Given the description of an element on the screen output the (x, y) to click on. 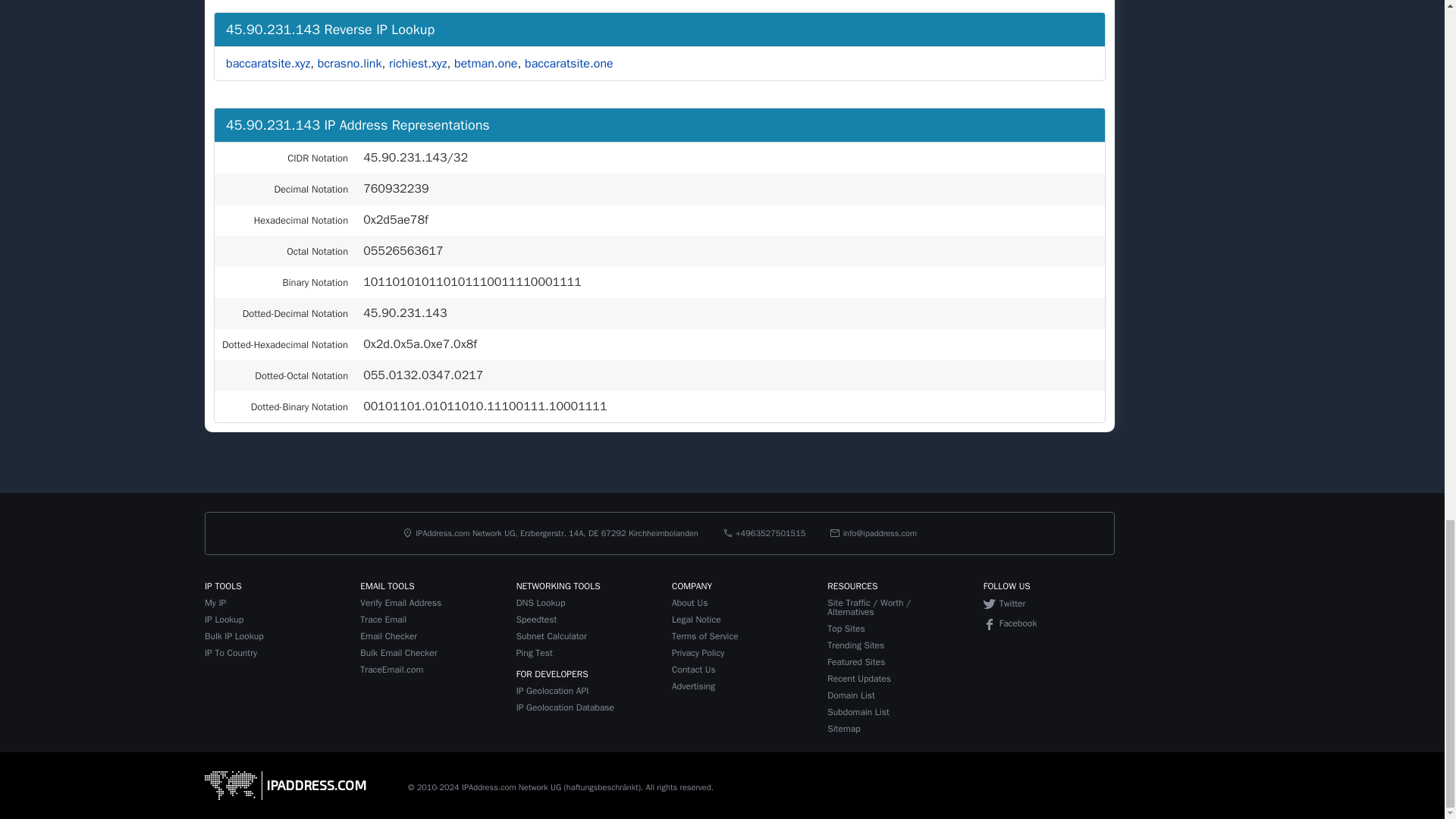
baccaratsite.xyz (267, 63)
richiest.xyz (417, 63)
bcrasno.link (349, 63)
betman.one (485, 63)
baccaratsite.one (568, 63)
